Given the description of an element on the screen output the (x, y) to click on. 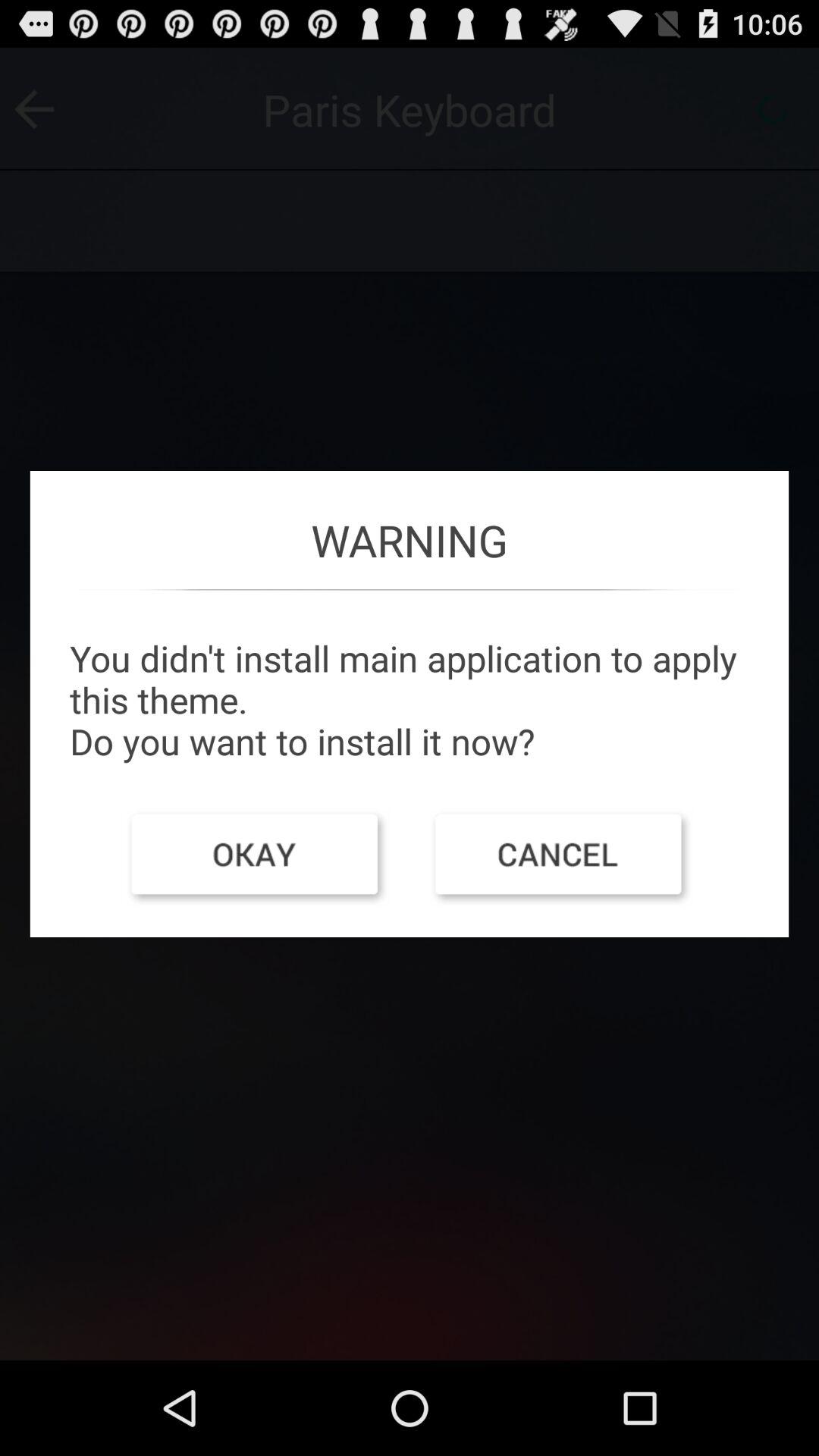
click item on the left (257, 858)
